Given the description of an element on the screen output the (x, y) to click on. 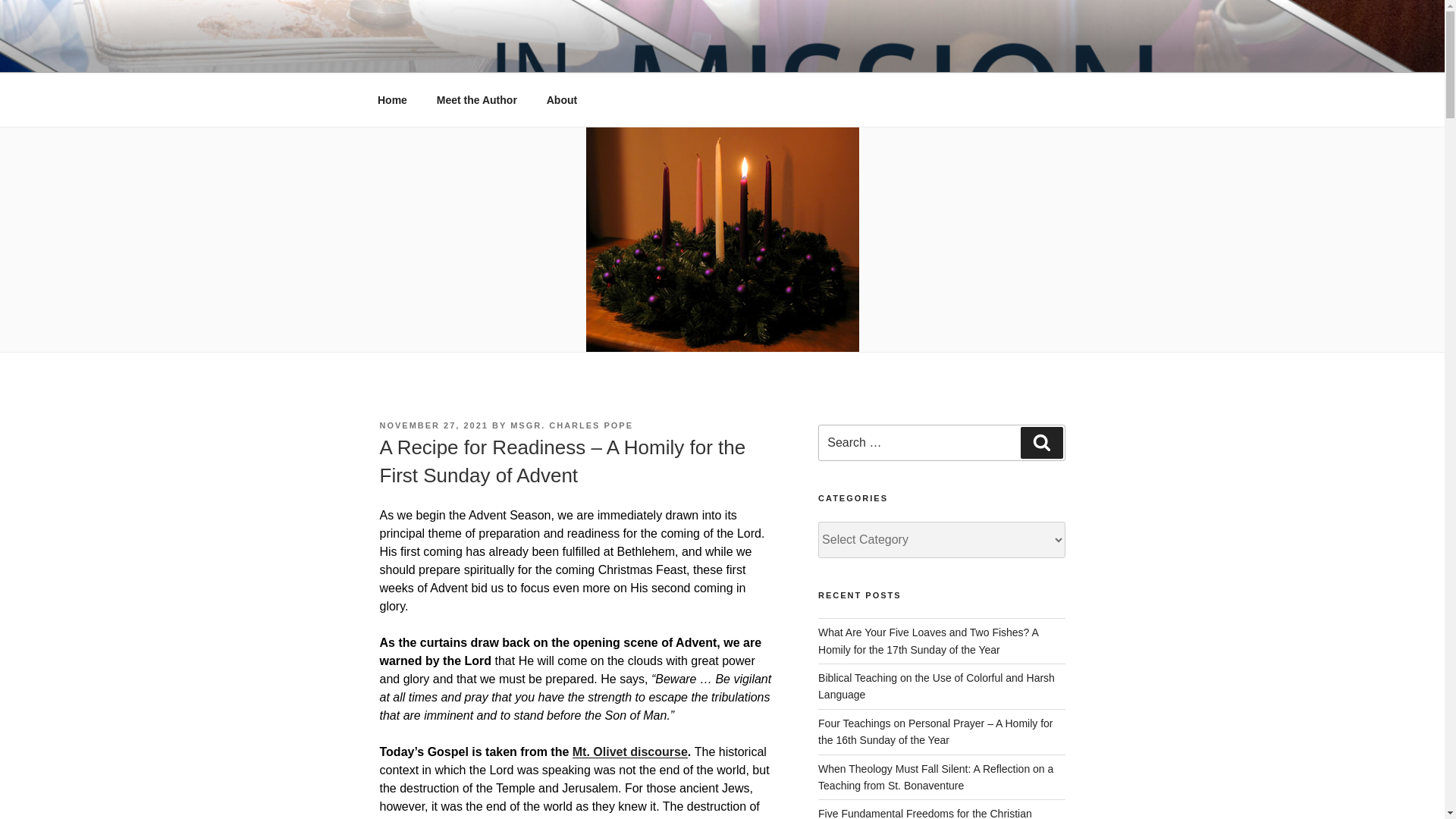
Biblical Teaching on the Use of Colorful and Harsh Language (936, 686)
Search (1041, 442)
Home (392, 99)
NOVEMBER 27, 2021 (432, 424)
Meet the Author (476, 99)
About (560, 99)
COMMUNITY IN MISSION (563, 52)
Mt. Olivet discourse (629, 751)
MSGR. CHARLES POPE (572, 424)
